Given the description of an element on the screen output the (x, y) to click on. 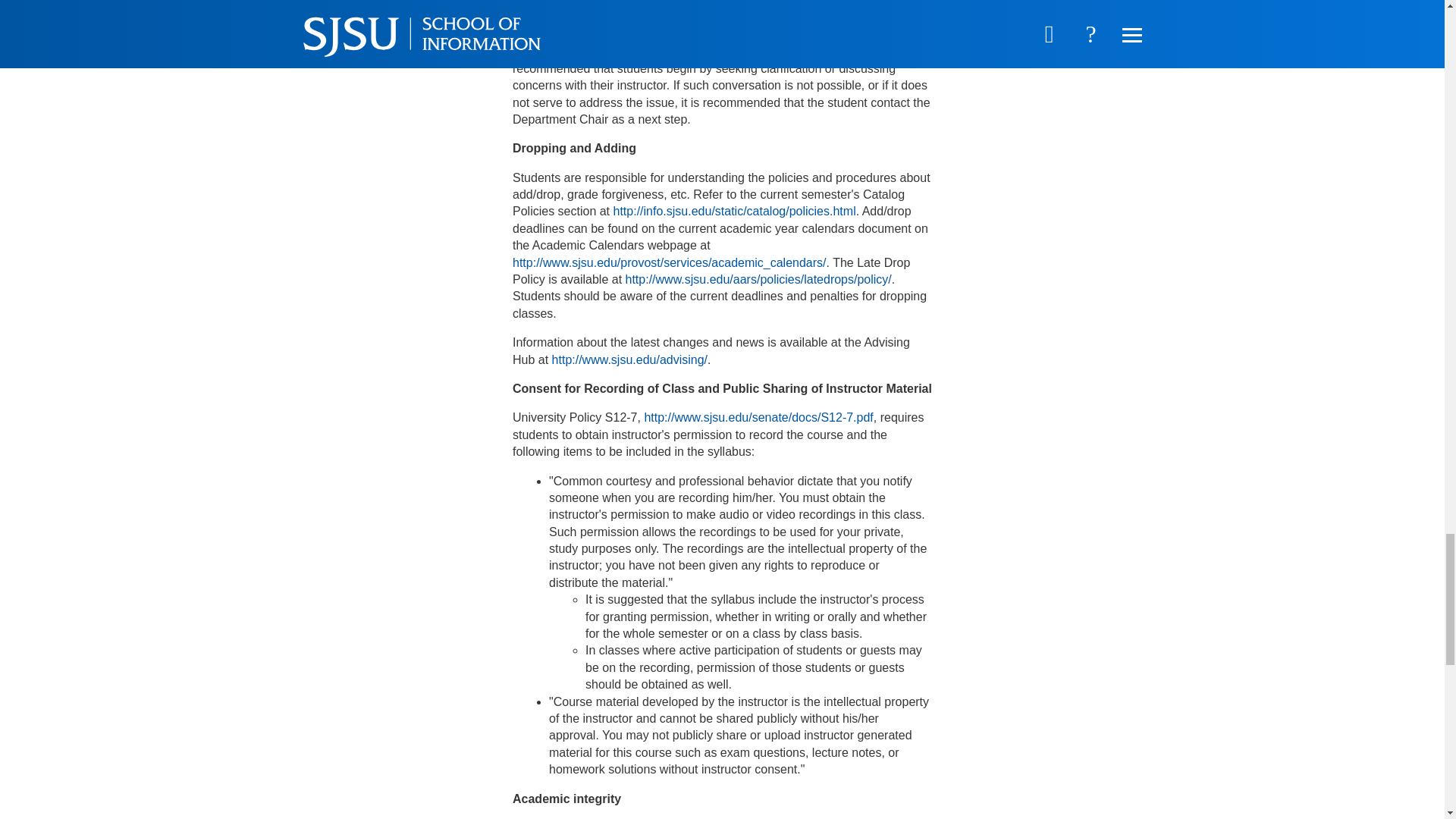
University Policy Adds Drops Grades (734, 210)
University Calendar (669, 262)
University Catalog for LIS courses (673, 51)
University Advising (629, 359)
University Policy Late Drops (758, 278)
University Policy Course Recording (757, 417)
